Given the description of an element on the screen output the (x, y) to click on. 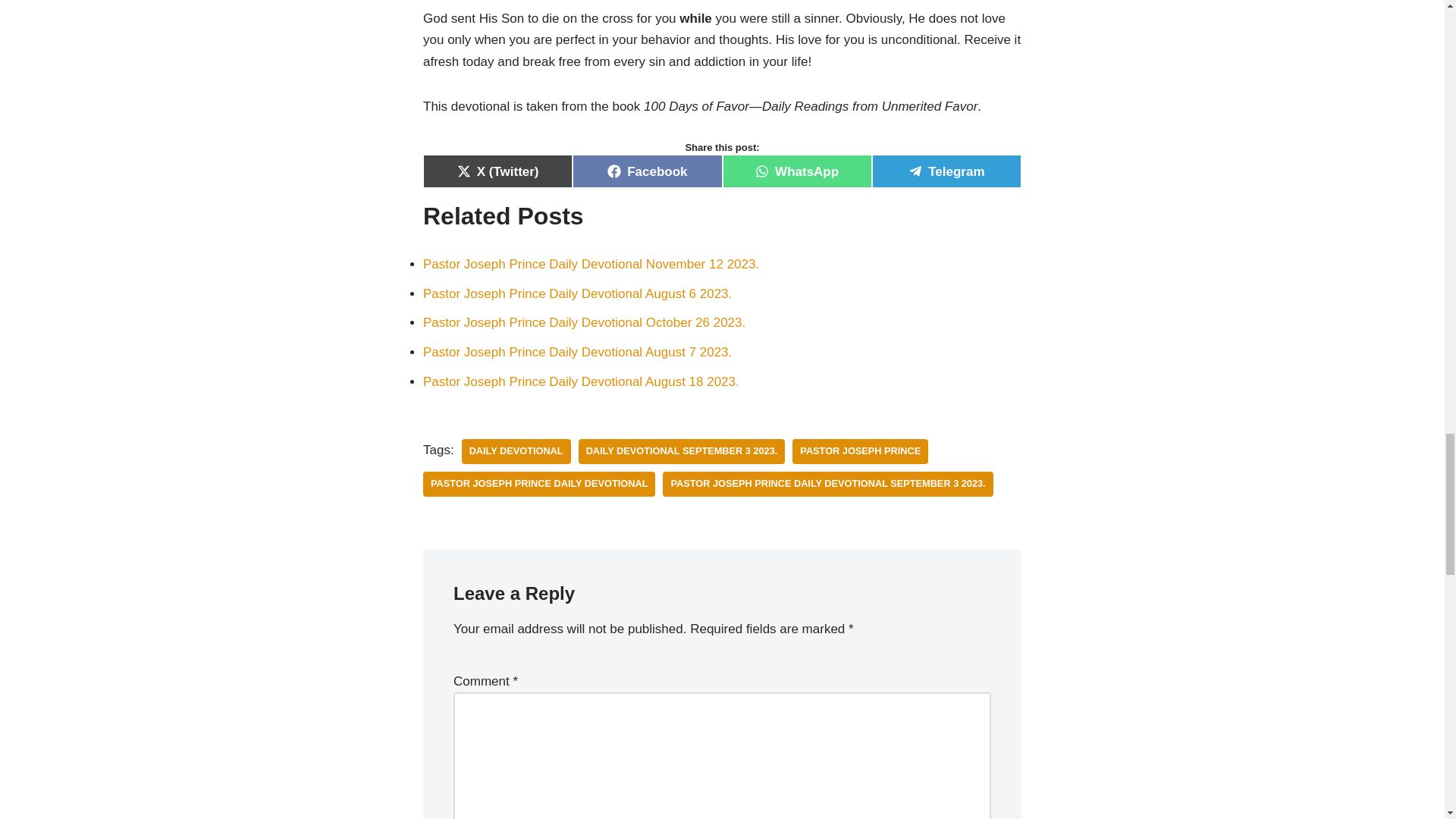
PASTOR JOSEPH PRINCE DAILY DEVOTIONAL (539, 483)
Pastor Joseph Prince Daily Devotional August 6 2023. (577, 293)
Pastor Joseph Prince Daily Devotional November 12 2023. (590, 264)
pastor joseph prince (860, 451)
Pastor Joseph Prince Daily Devotional August 18 2023. (581, 381)
Daily Devotional September 3 2023. (682, 451)
PASTOR JOSEPH PRINCE DAILY DEVOTIONAL SEPTEMBER 3 2023. (827, 483)
Daily Devotional (515, 451)
WhatsApp (796, 171)
Pastor Joseph Prince Daily Devotional August 7 2023. (577, 351)
Telegram (947, 171)
Facebook (647, 171)
DAILY DEVOTIONAL (515, 451)
PASTOR JOSEPH PRINCE (860, 451)
Pastor Joseph Prince Daily Devotional October 26 2023. (584, 322)
